Given the description of an element on the screen output the (x, y) to click on. 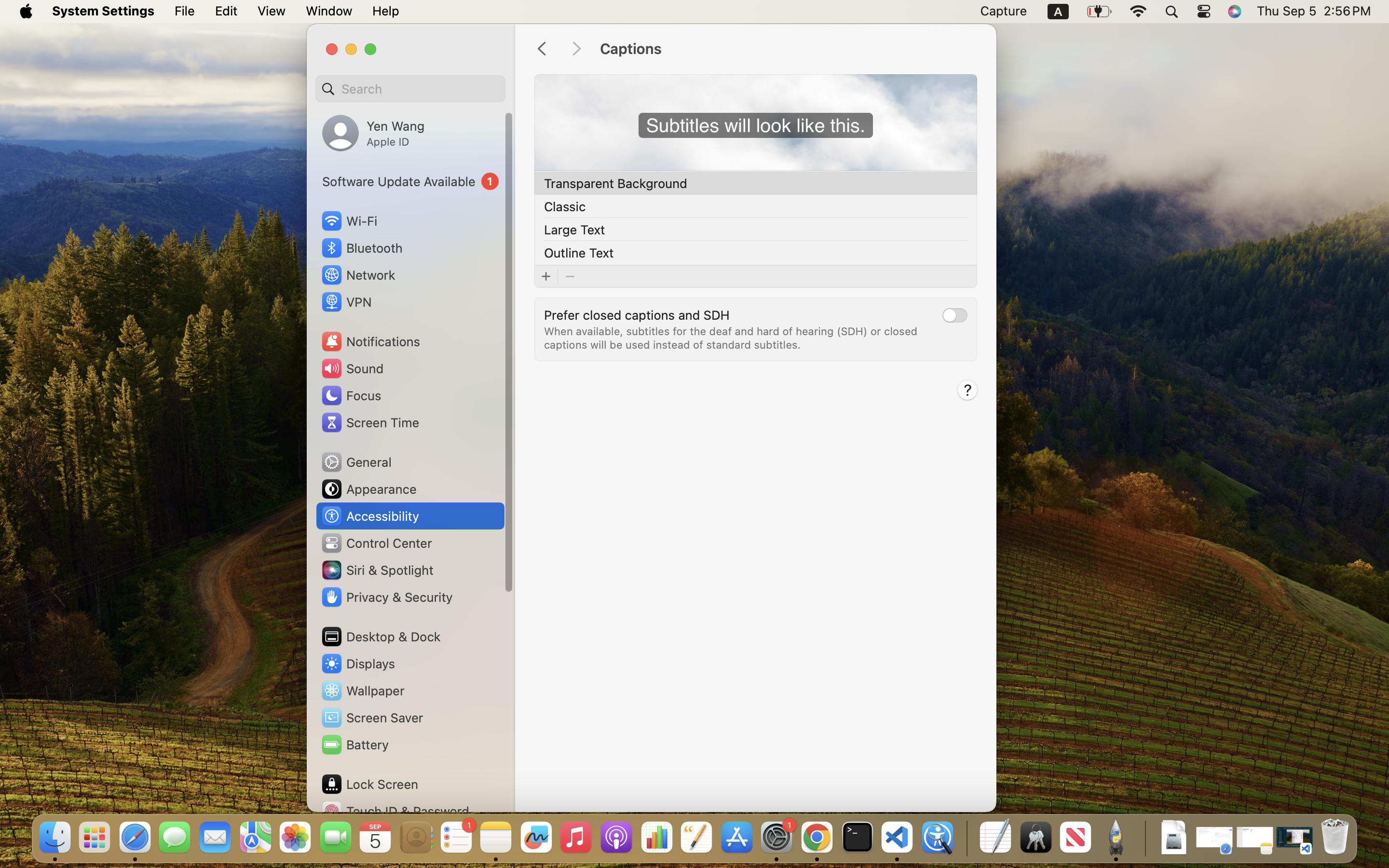
Screen Saver Element type: AXStaticText (371, 717)
When available, subtitles for the deaf and hard of hearing (SDH) or closed captions will be used instead of standard subtitles. Element type: AXStaticText (732, 337)
Siri & Spotlight Element type: AXStaticText (376, 569)
Yen Wang, Apple ID Element type: AXStaticText (373, 132)
Captions Element type: AXStaticText (788, 49)
